Given the description of an element on the screen output the (x, y) to click on. 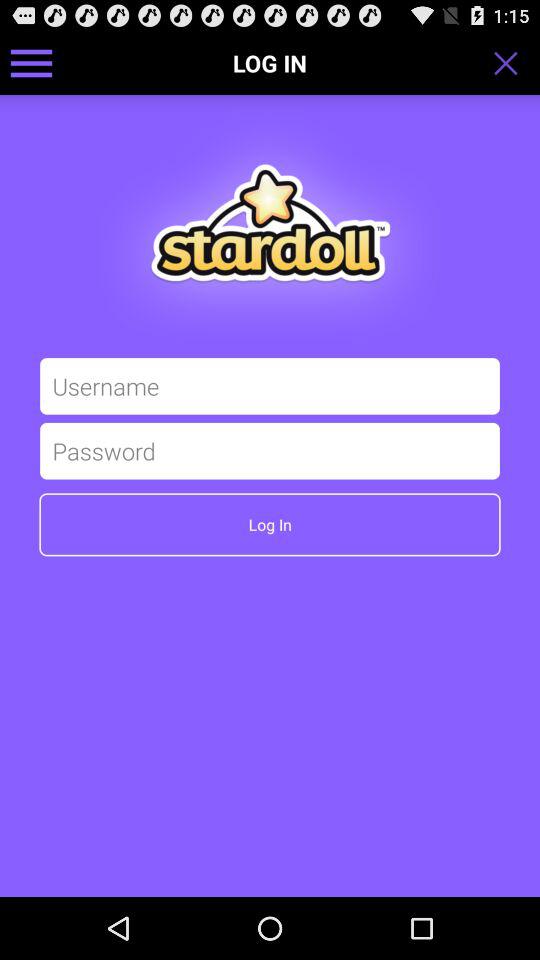
choose the icon next to the log in icon (31, 62)
